Given the description of an element on the screen output the (x, y) to click on. 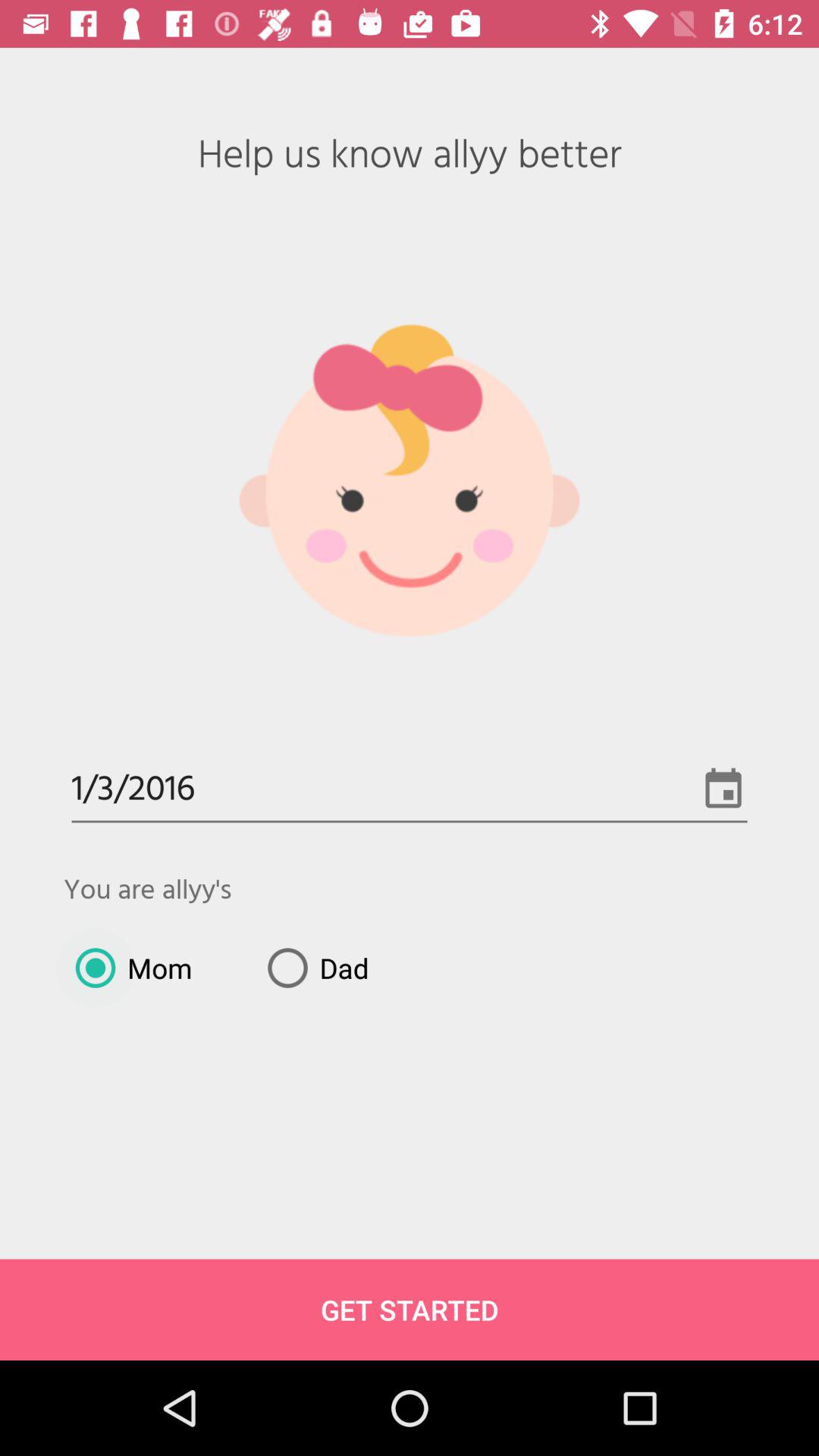
scroll to the mom item (127, 967)
